Given the description of an element on the screen output the (x, y) to click on. 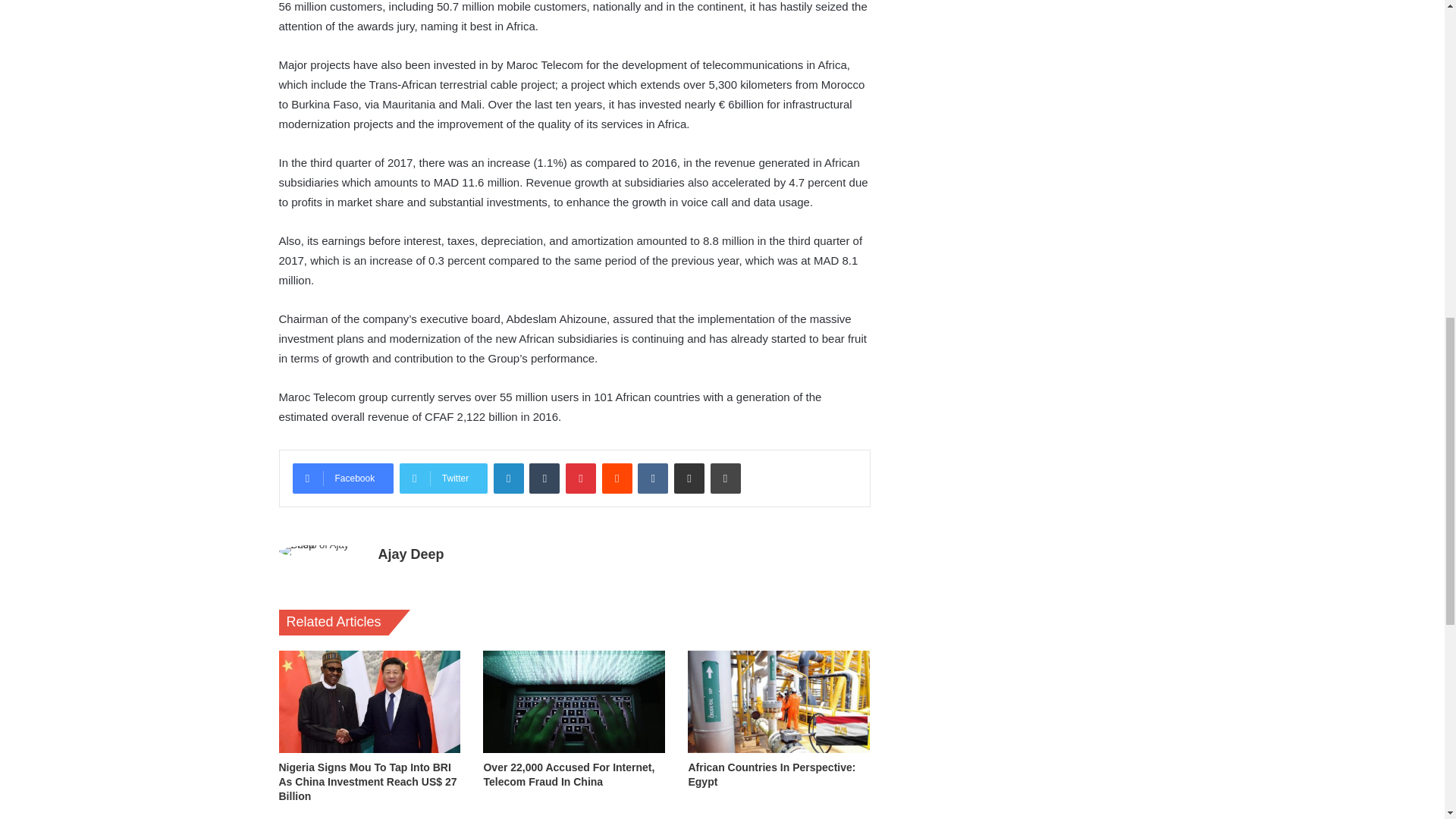
Facebook (343, 478)
Pinterest (580, 478)
Print (725, 478)
VKontakte (652, 478)
Share via Email (689, 478)
Twitter (442, 478)
LinkedIn (508, 478)
Reddit (616, 478)
Facebook (343, 478)
Twitter (442, 478)
Tumblr (544, 478)
